Given the description of an element on the screen output the (x, y) to click on. 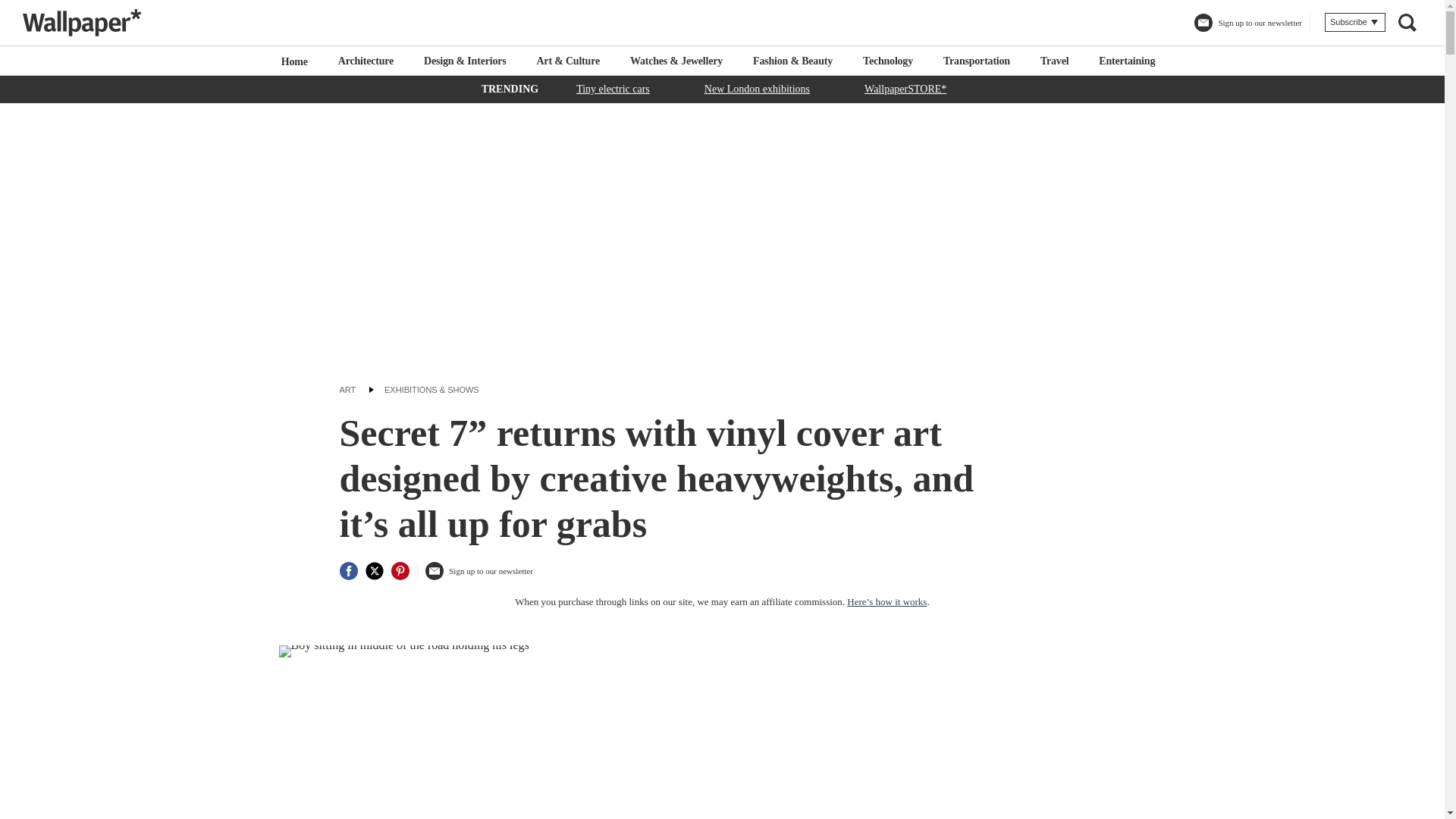
Sign up to our newsletter (478, 576)
ART (347, 388)
Sign up to our newsletter (1247, 28)
Tiny electric cars (612, 88)
New London exhibitions (756, 88)
Travel (1054, 60)
Entertaining (1126, 60)
Transportation (976, 60)
Architecture (365, 60)
Technology (887, 60)
